Given the description of an element on the screen output the (x, y) to click on. 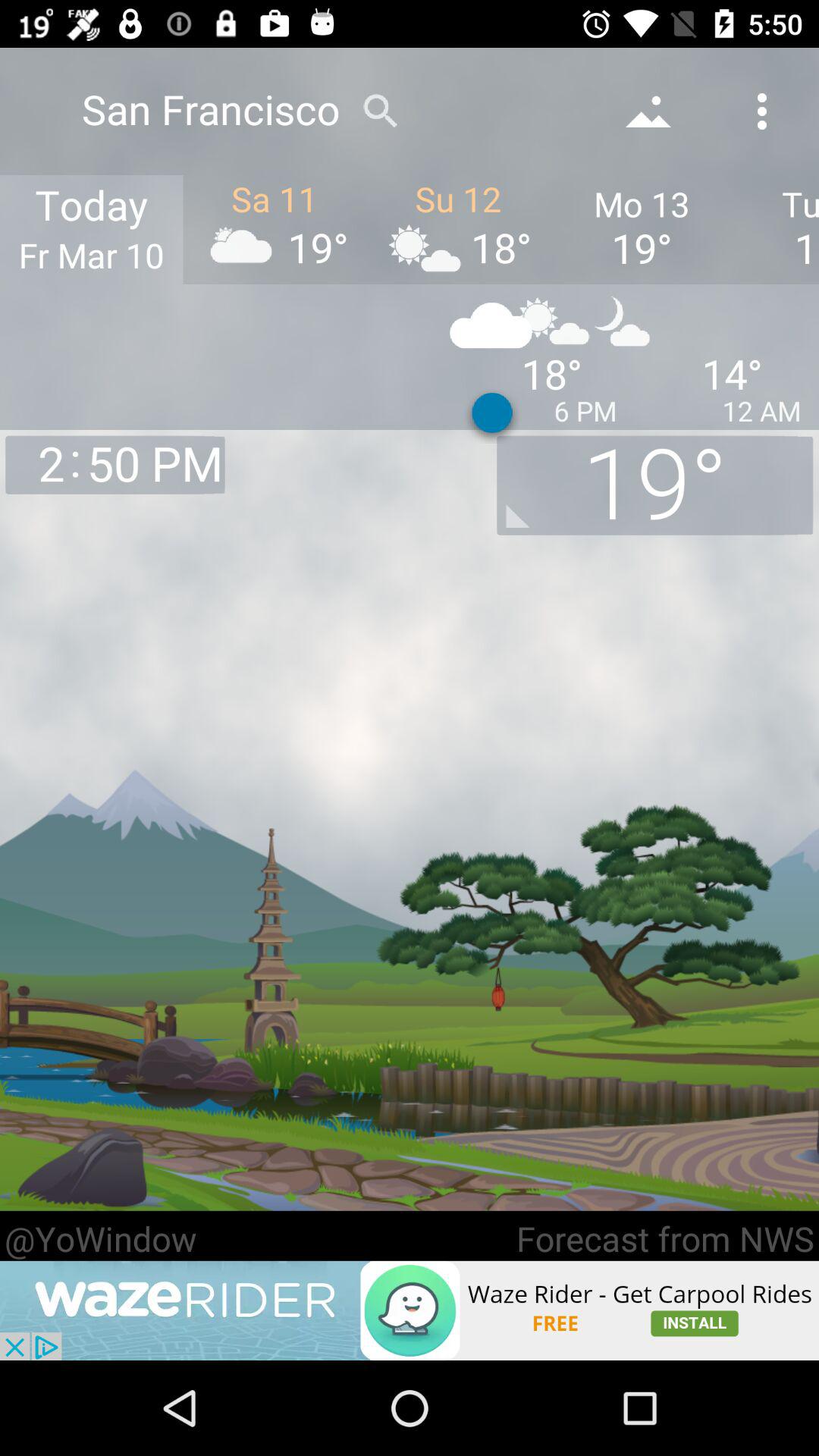
open wazerider advertisement (409, 1310)
